Given the description of an element on the screen output the (x, y) to click on. 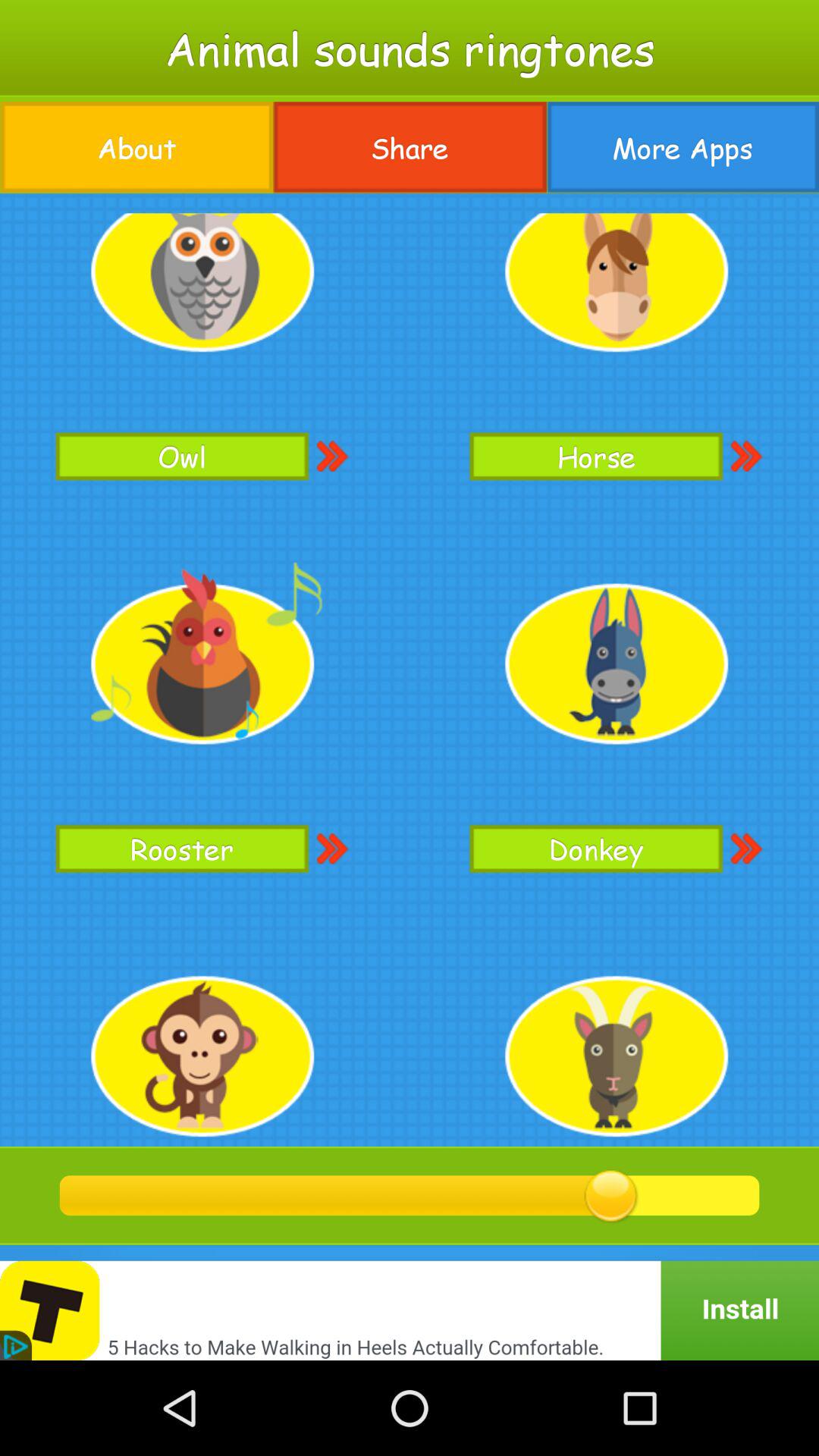
launch the icon to the right of share item (682, 147)
